Given the description of an element on the screen output the (x, y) to click on. 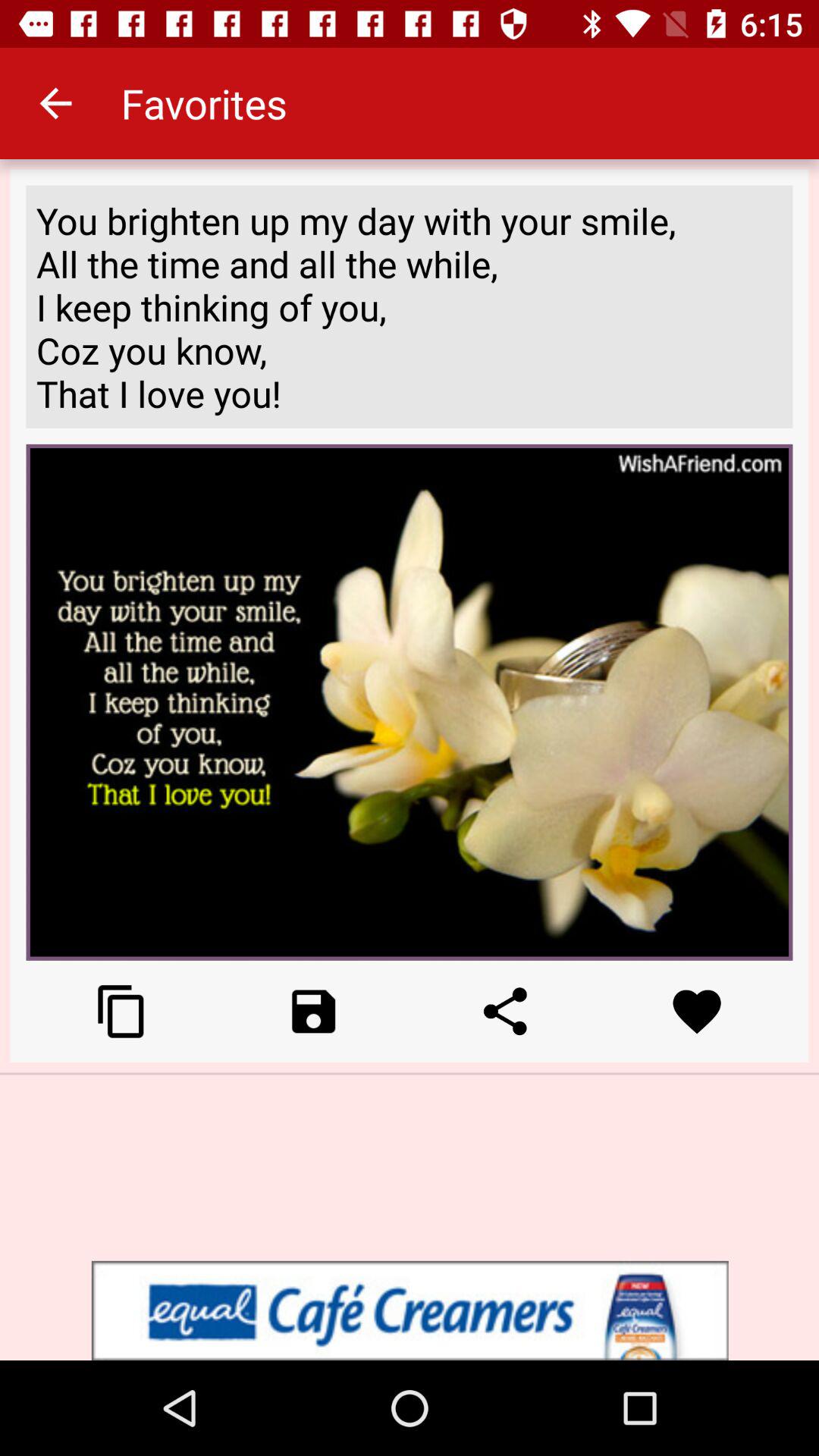
advertisement display (409, 1310)
